Given the description of an element on the screen output the (x, y) to click on. 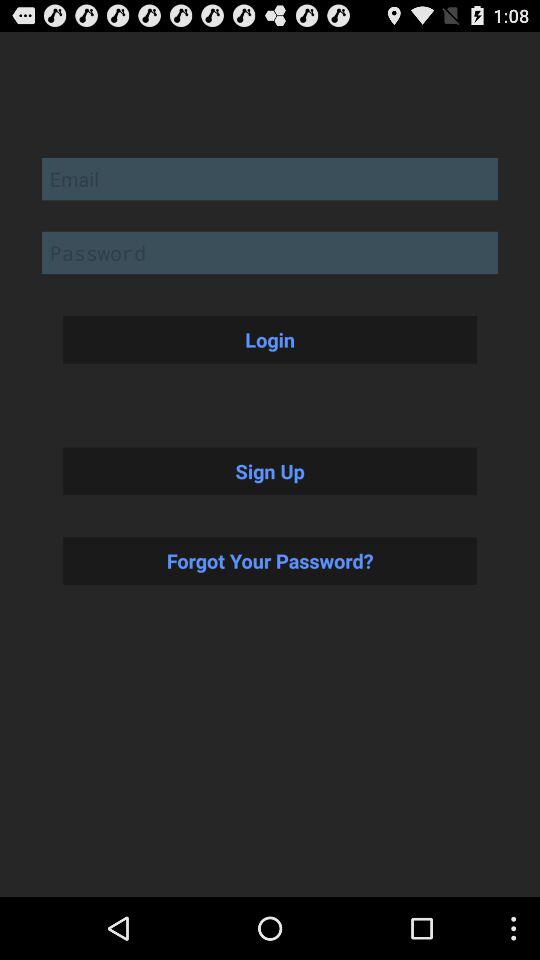
enter password field (270, 252)
